Given the description of an element on the screen output the (x, y) to click on. 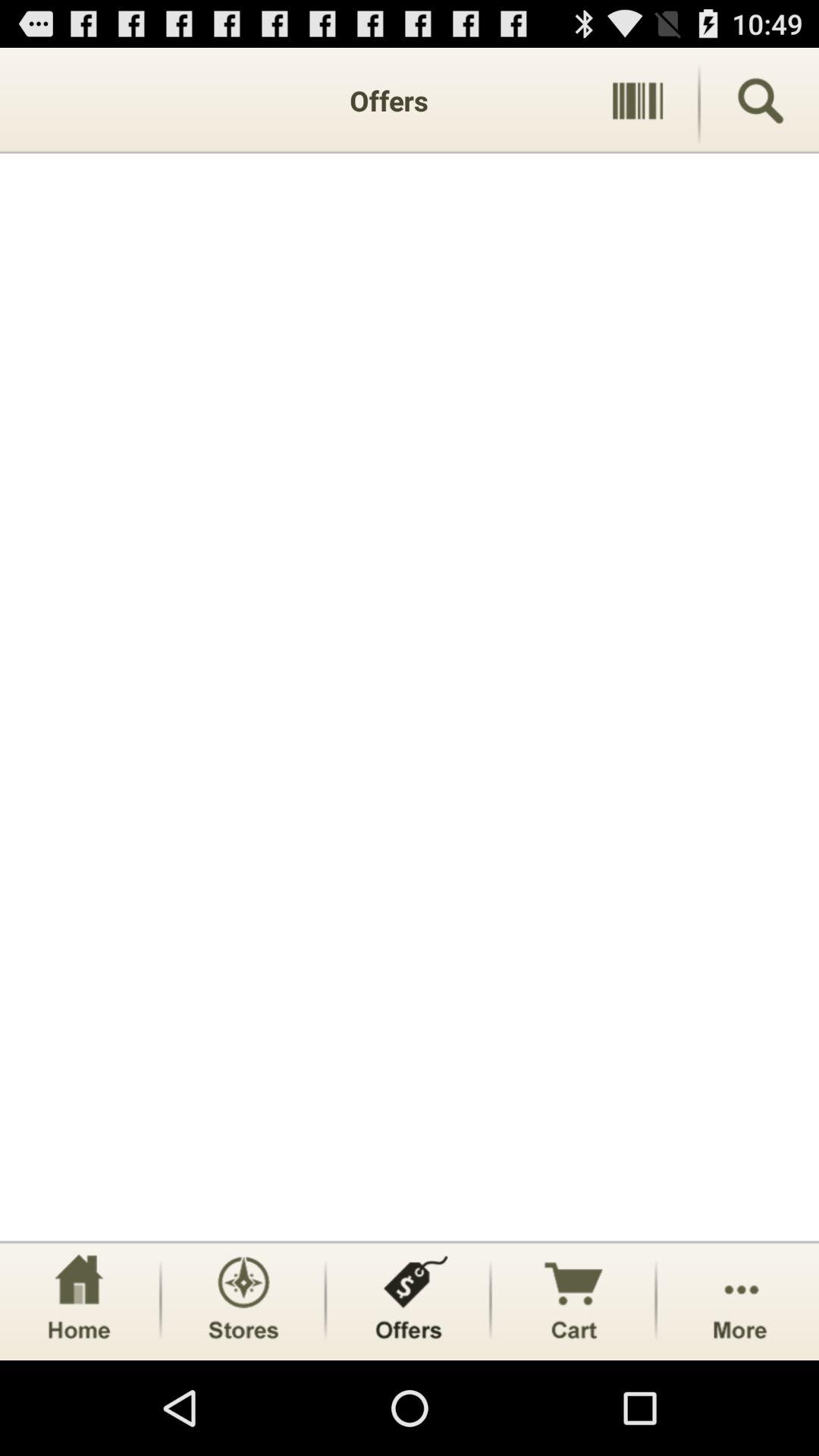
turn on item below the offers app (409, 697)
